Given the description of an element on the screen output the (x, y) to click on. 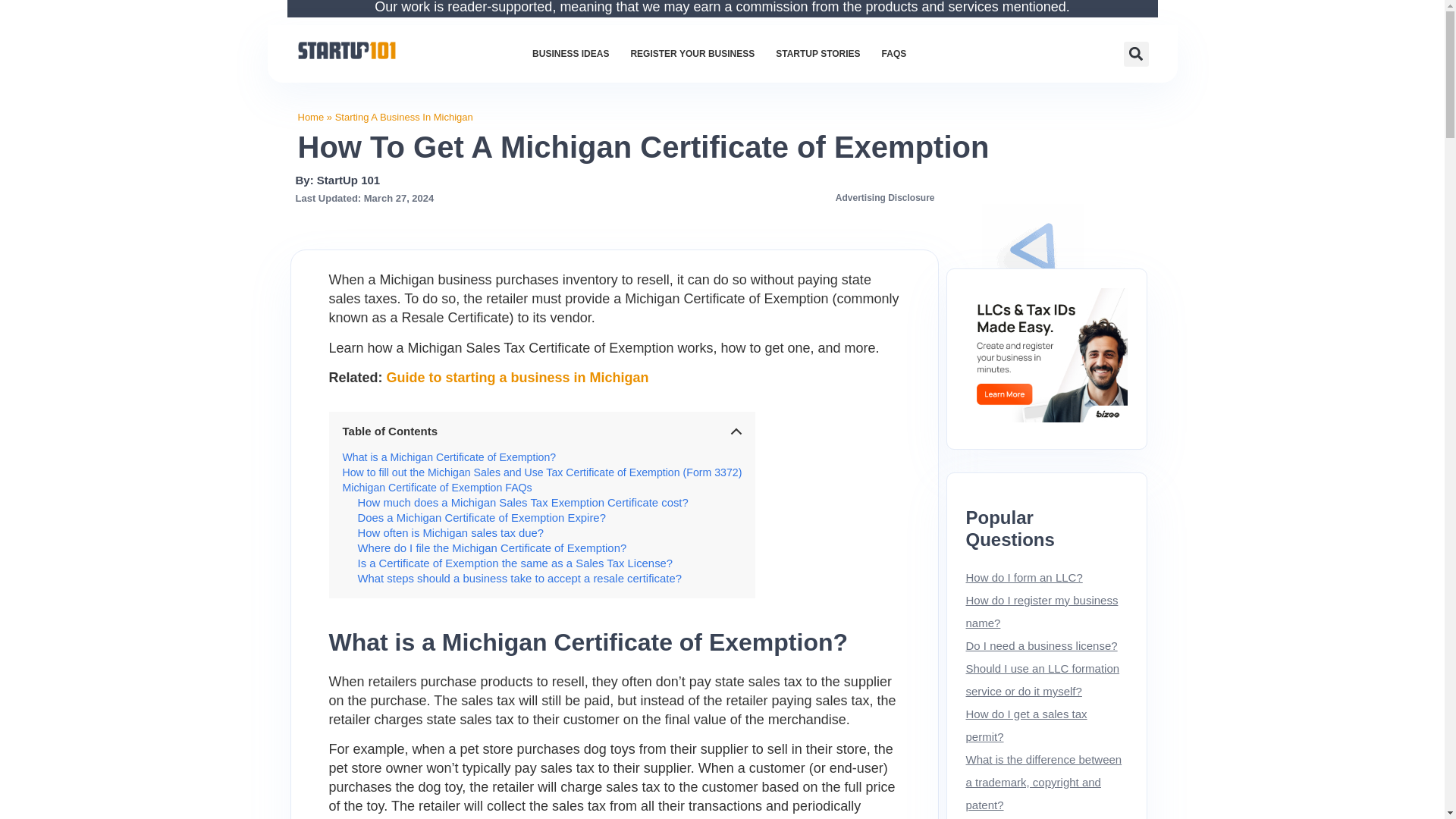
Michigan Certificate of Exemption FAQs (437, 487)
Does a Michigan Certificate of Exemption Expire? (481, 517)
How often is Michigan sales tax due? (451, 532)
Does a Michigan Certificate of Exemption Expire? (481, 517)
Where do I file the Michigan Certificate of Exemption? (492, 548)
Starting A Business In Michigan (403, 116)
Home (310, 116)
What is a Michigan Certificate of Exemption? (449, 457)
